Given the description of an element on the screen output the (x, y) to click on. 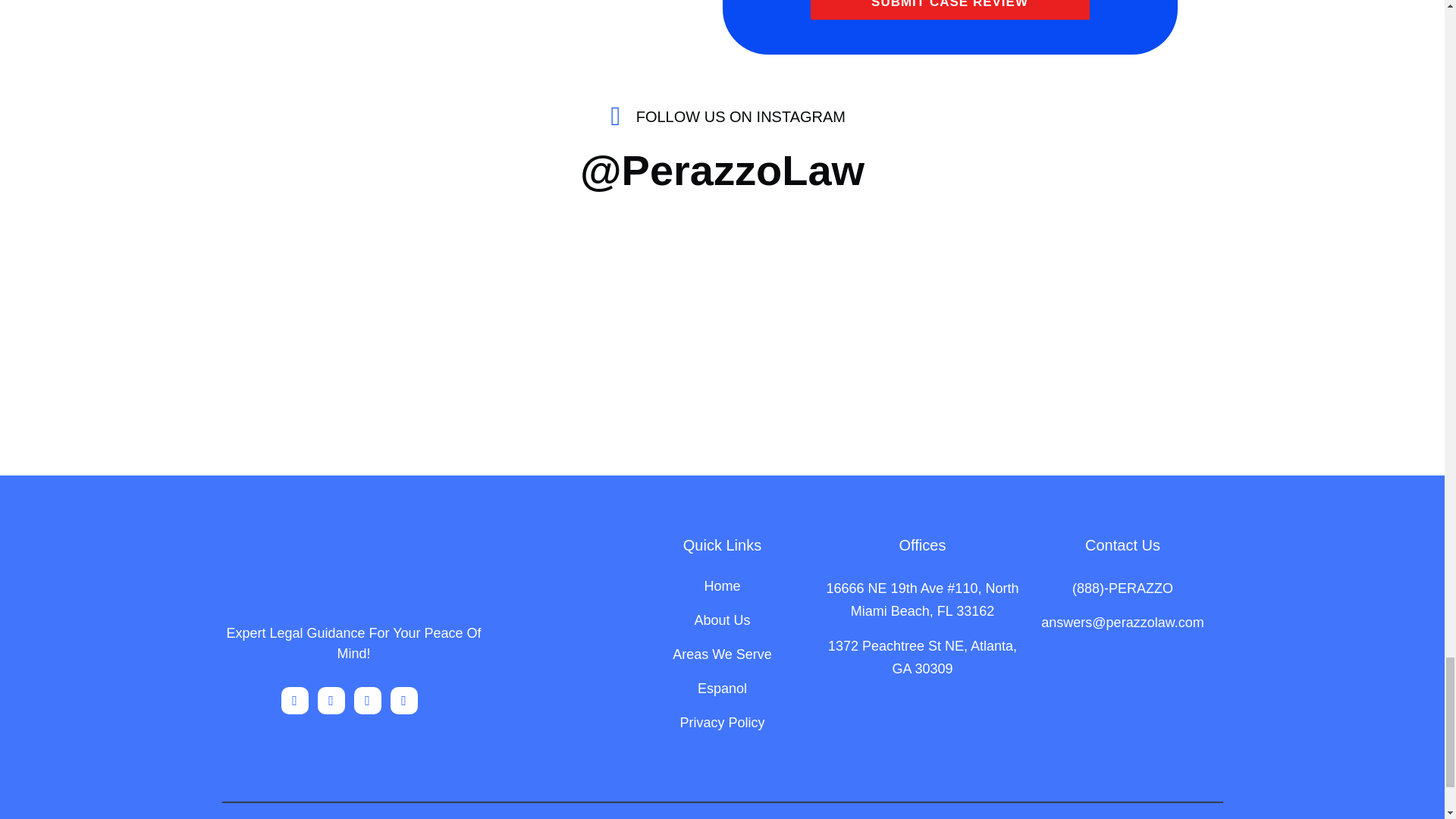
Instagram (294, 700)
Facebook-f (330, 700)
About Us (721, 627)
Areas We Serve (721, 662)
SUBMIT CASE REVIEW (949, 9)
FOLLOW US ON INSTAGRAM (721, 116)
Linkedin-in (366, 700)
Home (721, 593)
Youtube (403, 700)
Espanol (721, 696)
Privacy Policy (721, 730)
